Given the description of an element on the screen output the (x, y) to click on. 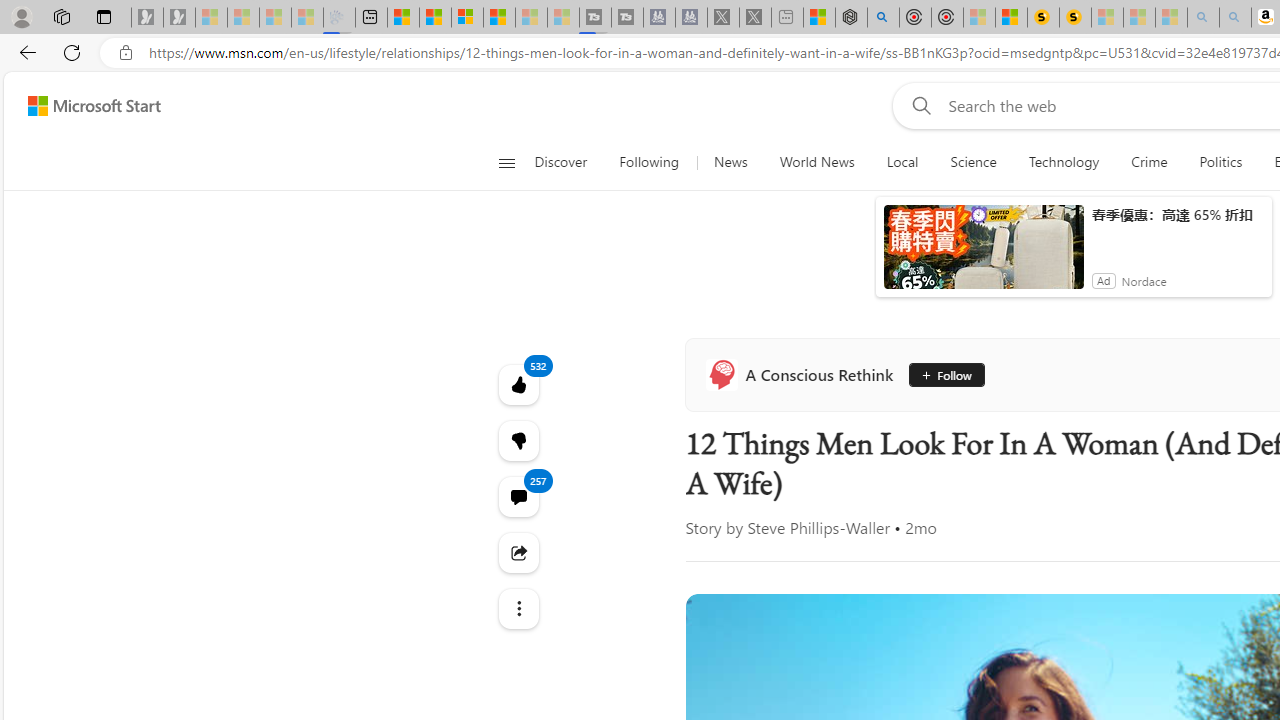
Live Science (1138, 475)
Start the conversation (1211, 575)
News (701, 265)
AutomationID: tab-23 (842, 576)
AutomationID: tab-18 (801, 576)
149 Like (1151, 574)
Microsoft Start - Sleeping (529, 17)
Top stories (572, 631)
New folder (1136, 88)
11 Like (1149, 574)
View comments 8 Comment (1234, 575)
Chip Chick (1138, 475)
